Given the description of an element on the screen output the (x, y) to click on. 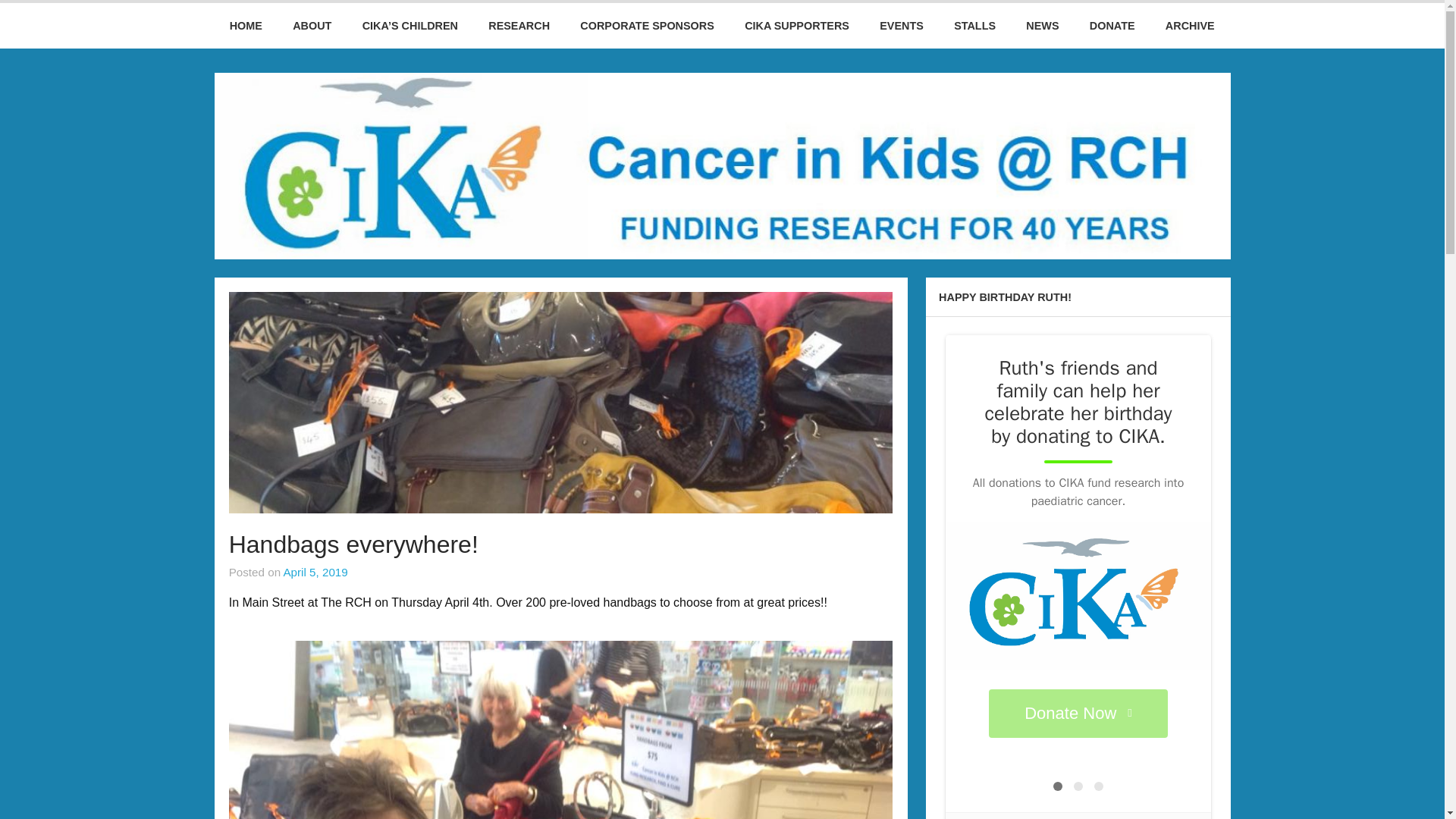
HOME (246, 25)
RESEARCH (518, 25)
CIKA (34, 15)
ABOUT (312, 25)
2:10 pm (314, 571)
